Given the description of an element on the screen output the (x, y) to click on. 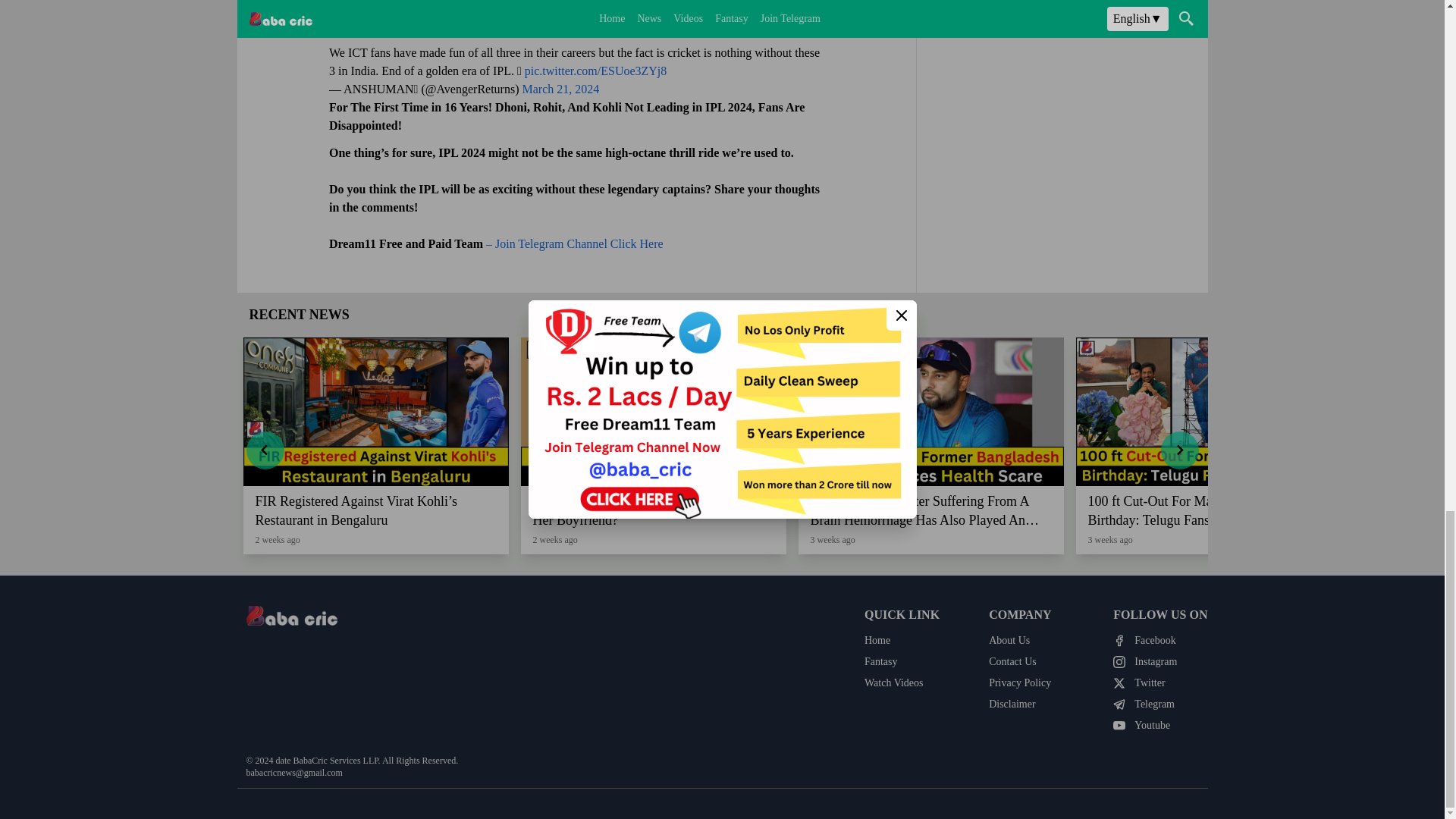
March 21, 2024 (559, 88)
